Given the description of an element on the screen output the (x, y) to click on. 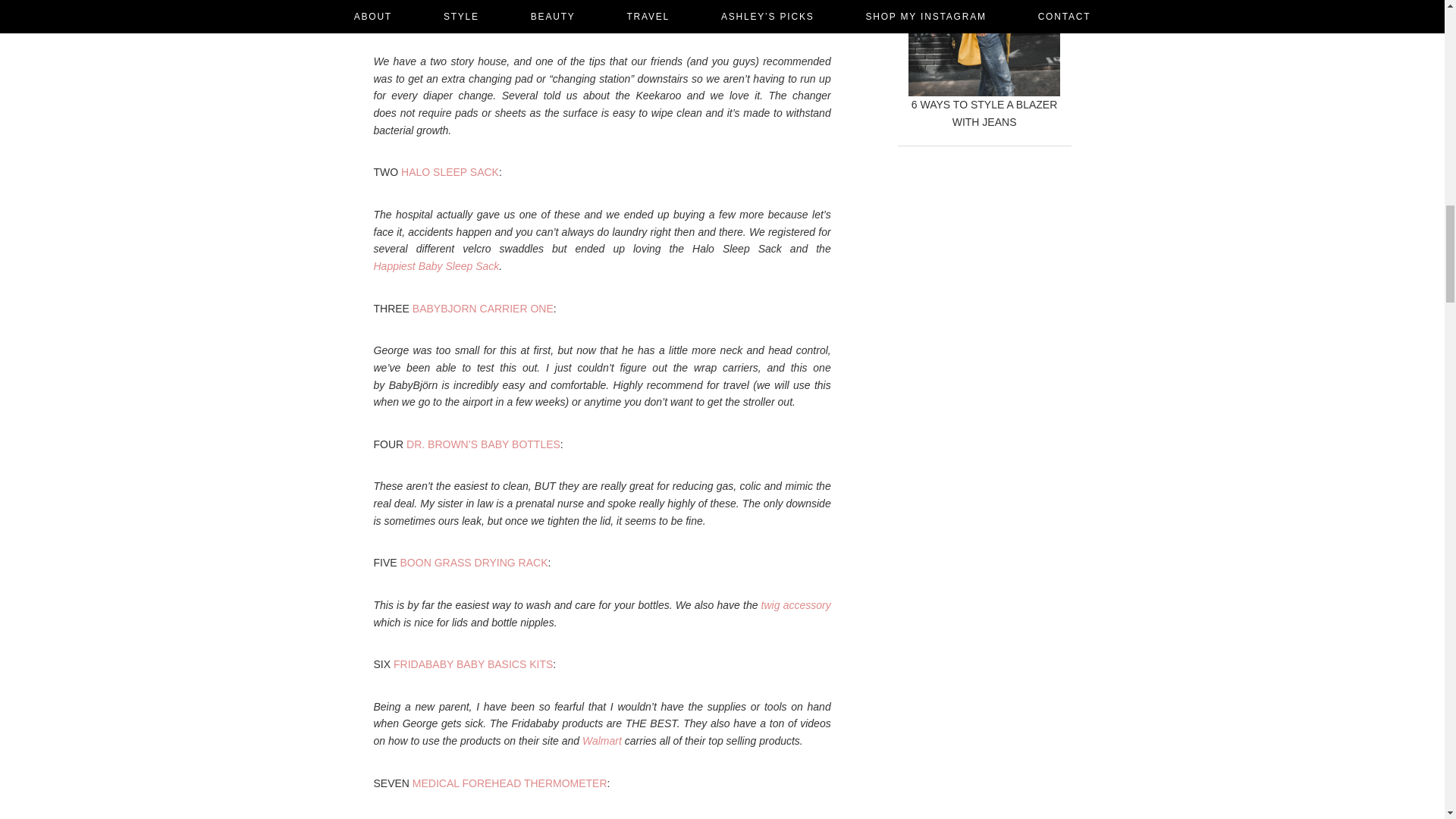
twig accessory (796, 604)
PEANUT CHANGING PAD (462, 19)
Happiest Baby Sleep Sack (435, 265)
BOON GRASS DRYING RACK (474, 562)
FRIDABABY BABY BASICS KITS (473, 664)
HALO SLEEP SACK (450, 172)
BABYBJORN CARRIER ONE (482, 308)
MEDICAL FOREHEAD THERMOMETER (509, 783)
Walmart (601, 740)
